Given the description of an element on the screen output the (x, y) to click on. 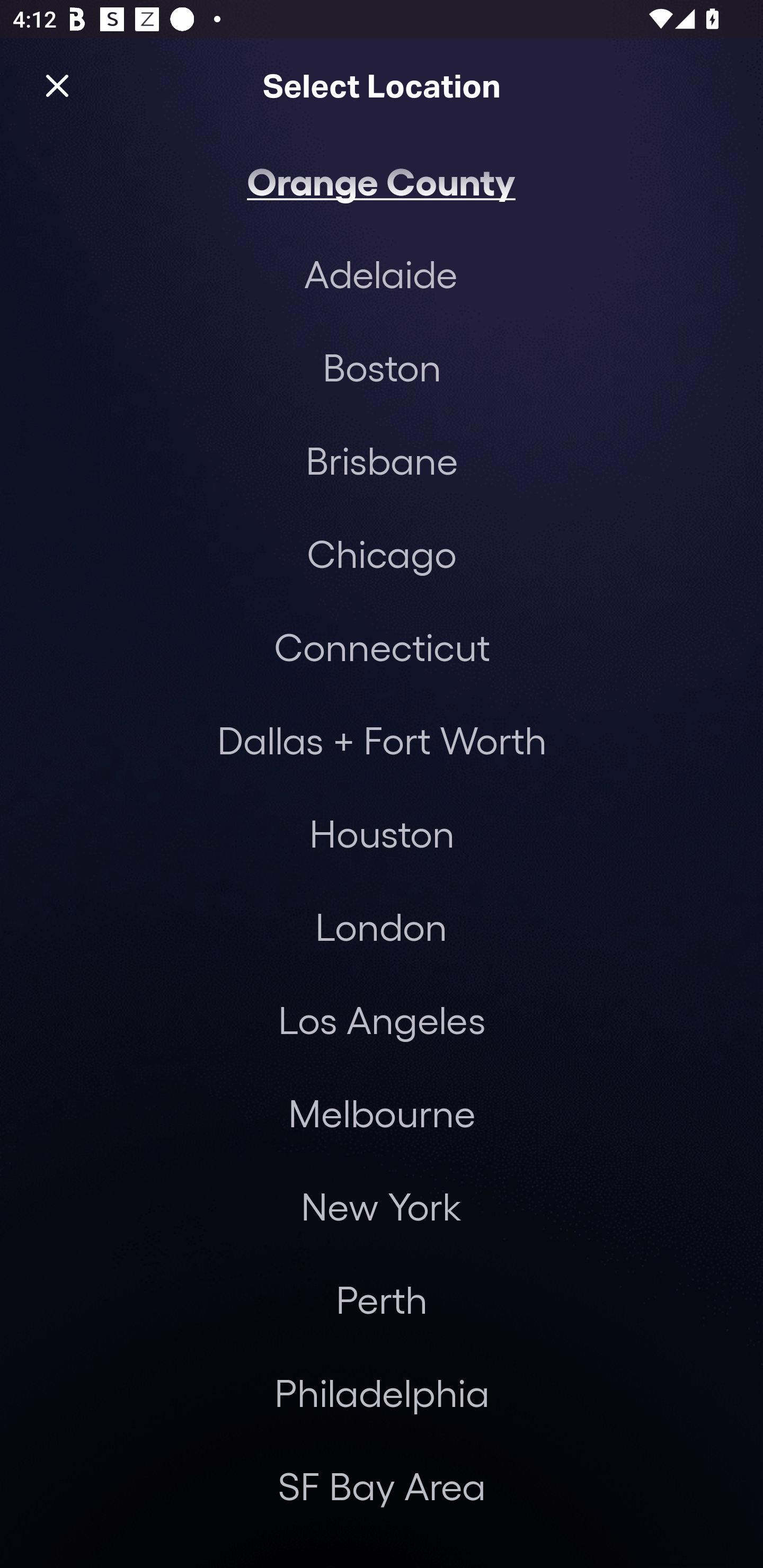
Close (57, 85)
Orange County (380, 180)
Adelaide (380, 273)
Boston (381, 366)
Brisbane (381, 459)
Chicago (381, 553)
Connecticut (381, 646)
Dallas + Fort Worth (381, 740)
Houston (381, 833)
London (380, 926)
Los Angeles (381, 1019)
Melbourne (381, 1113)
New York (380, 1206)
Perth (381, 1298)
Philadelphia (381, 1392)
SF Bay Area (381, 1485)
